Given the description of an element on the screen output the (x, y) to click on. 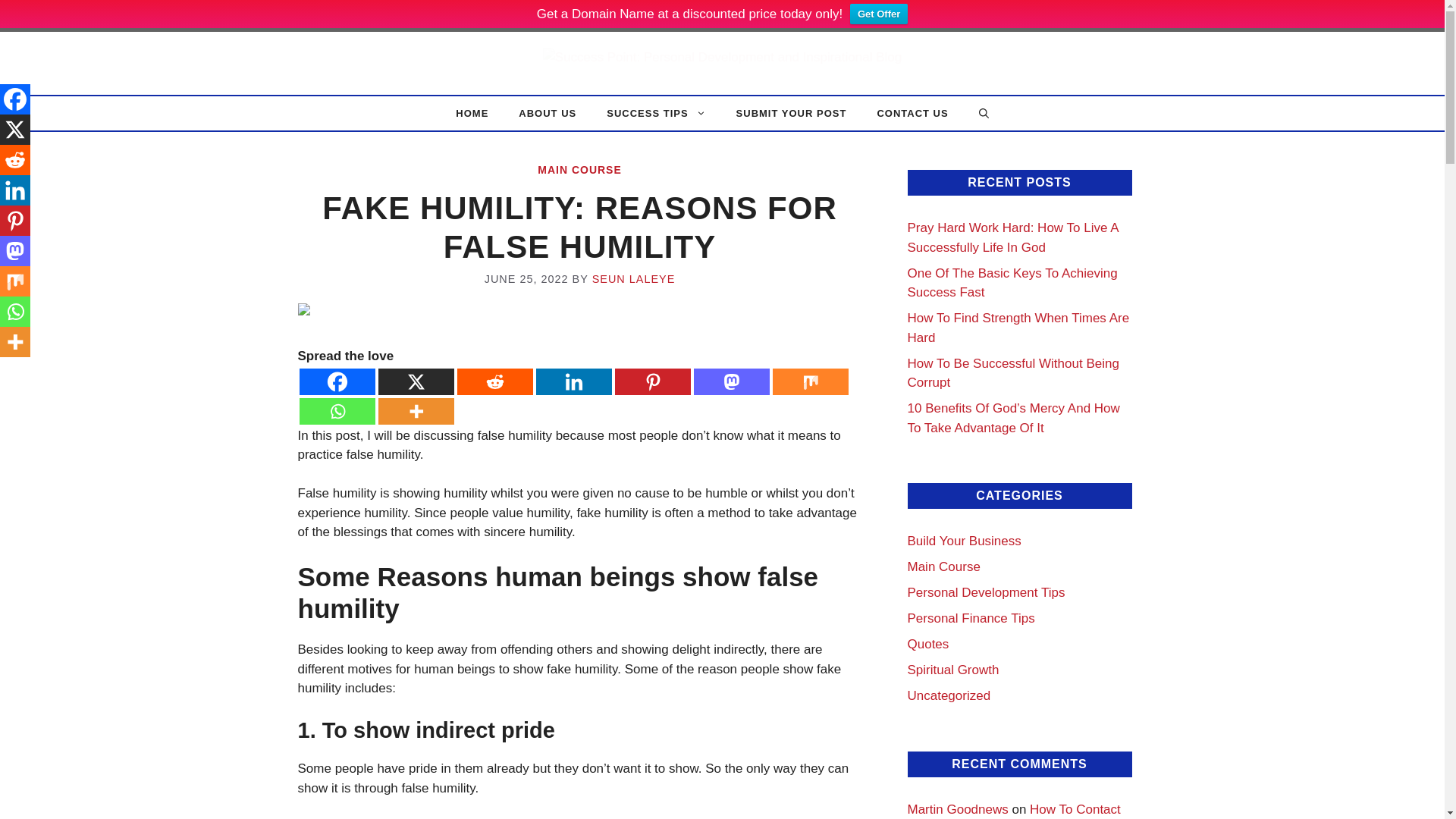
X (15, 129)
Mix (809, 381)
CONTACT US (911, 113)
Facebook (336, 381)
ABOUT US (547, 113)
Reddit (494, 381)
Facebook (15, 99)
X (414, 381)
More (414, 411)
SUBMIT YOUR POST (790, 113)
